Given the description of an element on the screen output the (x, y) to click on. 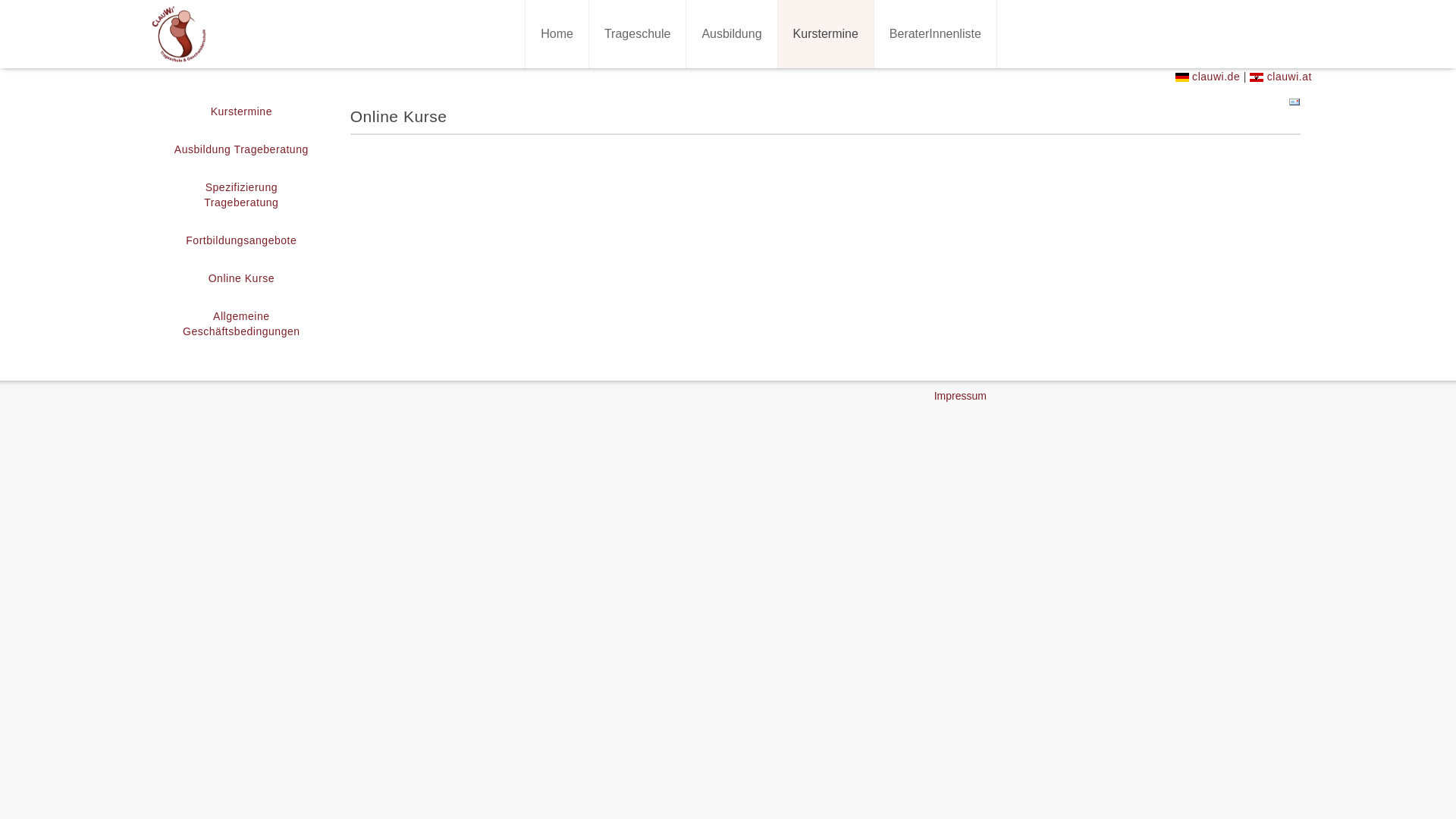
Ausbildung Trageberatung Element type: text (241, 149)
Online Kurse Element type: text (241, 278)
Home Element type: text (556, 34)
Fortbildungsangebote Element type: text (241, 240)
clauwi.de Element type: text (1207, 76)
Ausbildung Element type: text (731, 34)
Impressum Element type: text (960, 395)
Kurstermine Element type: text (825, 34)
clauwi.at Element type: text (1280, 76)
Spezifizierung Trageberatung Element type: text (241, 194)
Trageschule Element type: text (637, 34)
Kurstermine Element type: text (241, 111)
BeraterInnenliste Element type: text (935, 34)
